Given the description of an element on the screen output the (x, y) to click on. 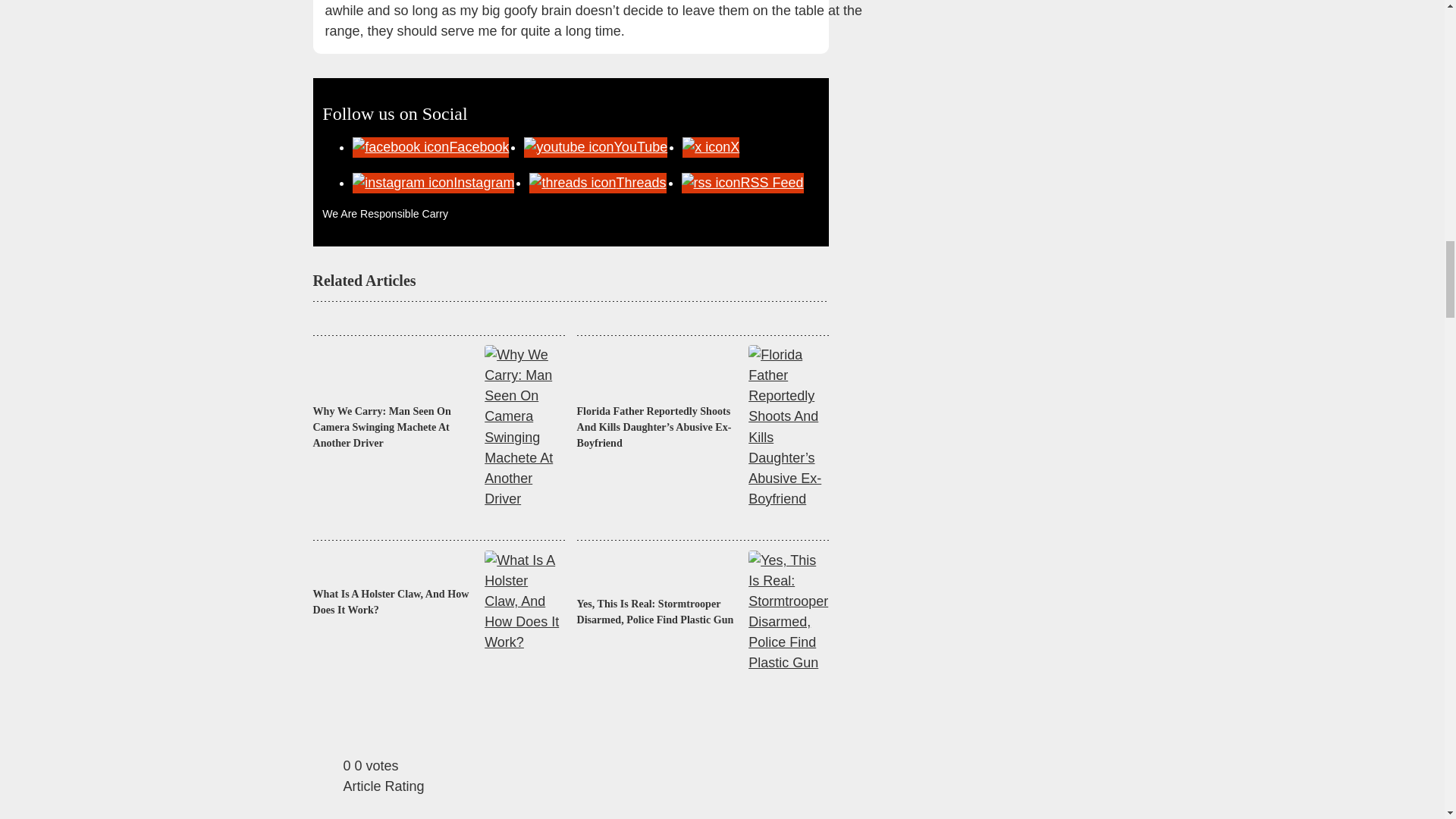
Instagram (432, 182)
X (710, 146)
YouTube (595, 146)
Facebook (430, 146)
RSS Feed (742, 182)
Threads (597, 182)
What Is A Holster Claw, And How Does It Work? (392, 602)
